Given the description of an element on the screen output the (x, y) to click on. 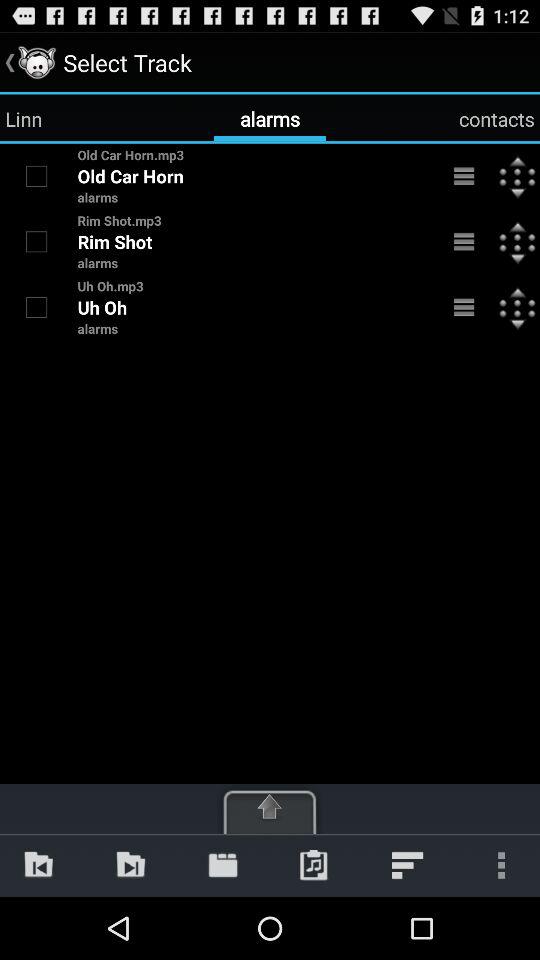
details (463, 307)
